Given the description of an element on the screen output the (x, y) to click on. 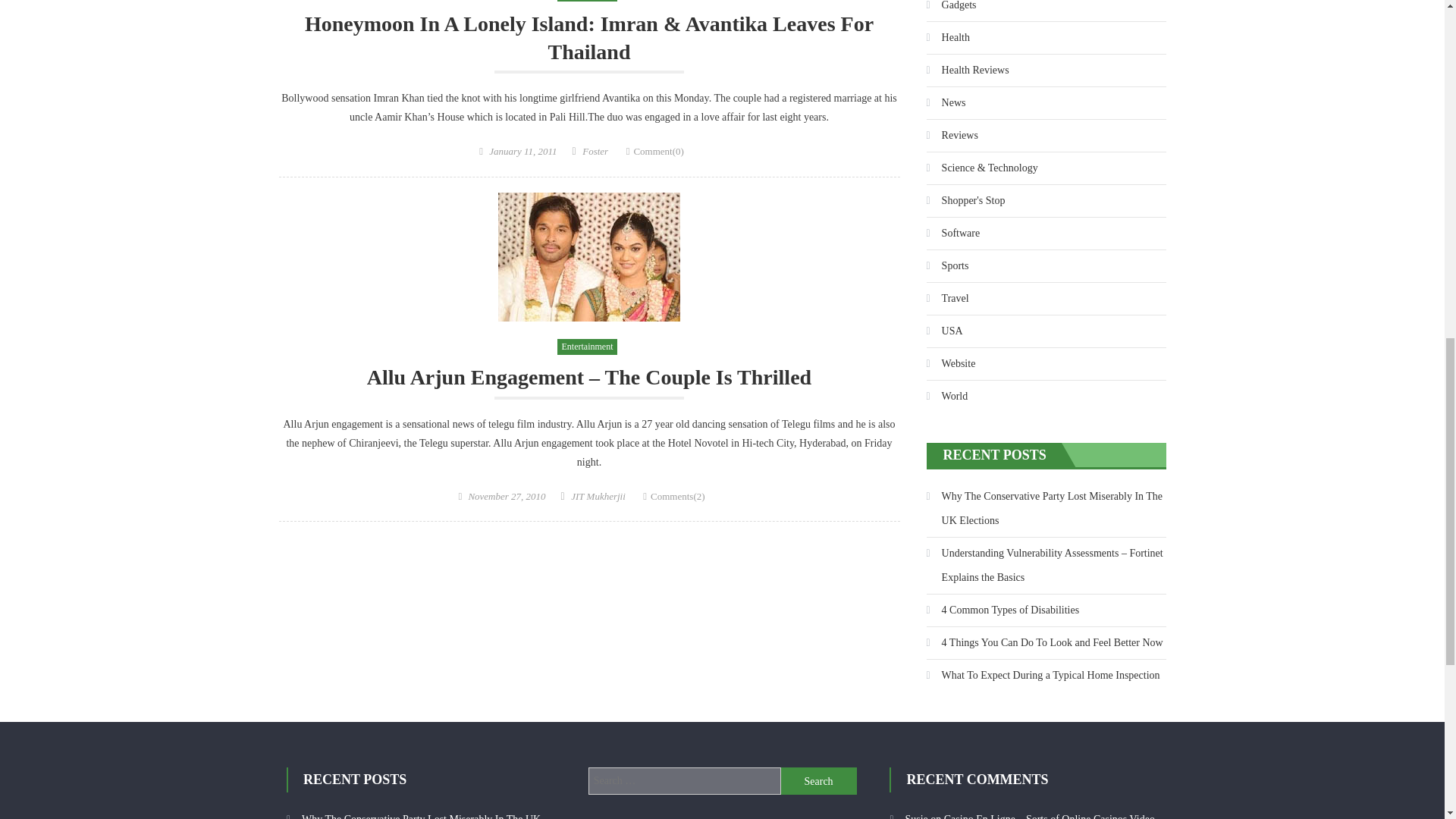
Search (818, 780)
JIT Mukherjii (598, 496)
January 11, 2011 (522, 151)
Entertainment (586, 1)
Foster (595, 151)
November 27, 2010 (505, 496)
Search (818, 780)
Entertainment (586, 347)
